Given the description of an element on the screen output the (x, y) to click on. 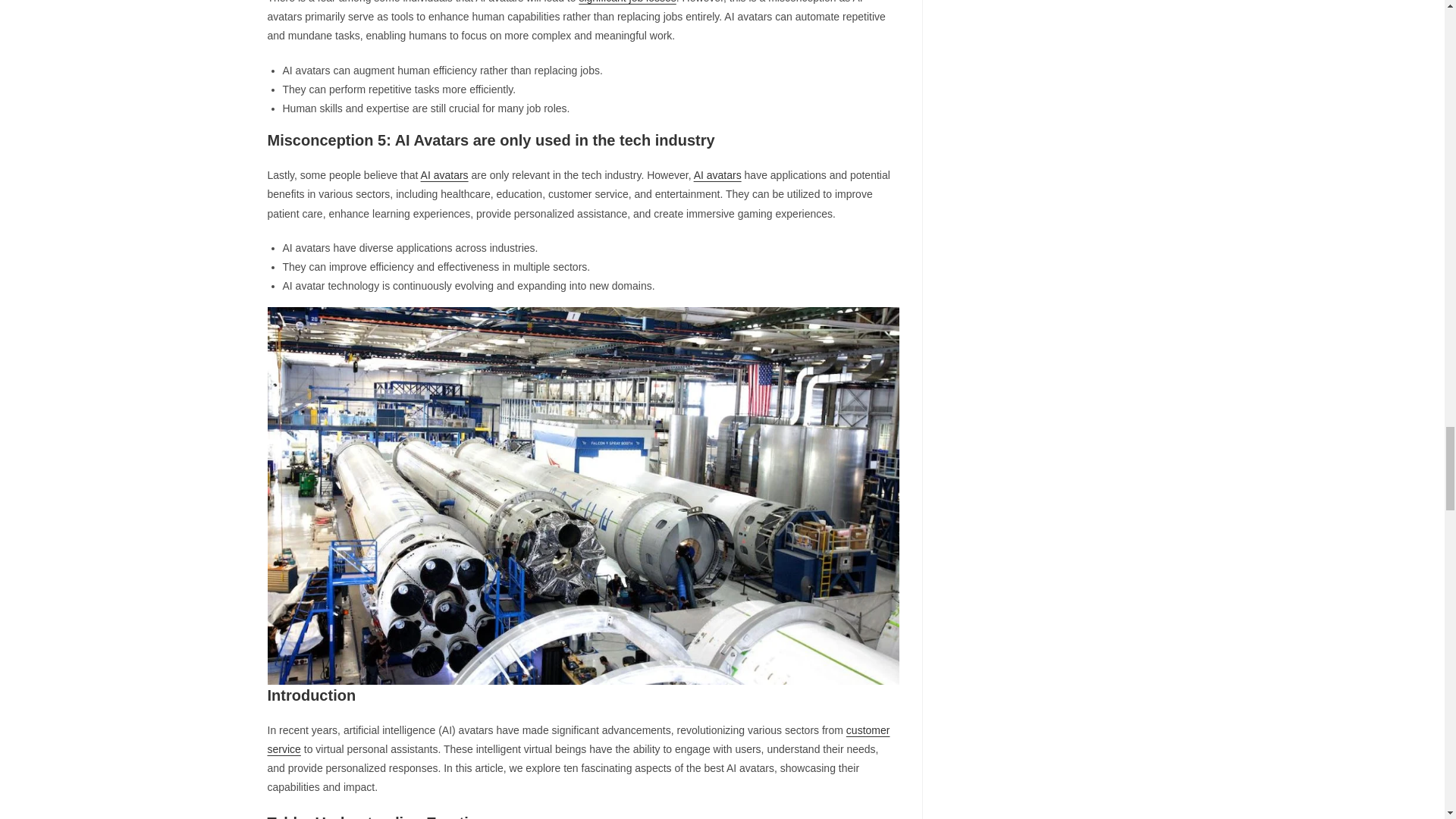
AI avatars (444, 174)
significant job losses (626, 2)
AI avatars (717, 174)
customer service (577, 739)
